Given the description of an element on the screen output the (x, y) to click on. 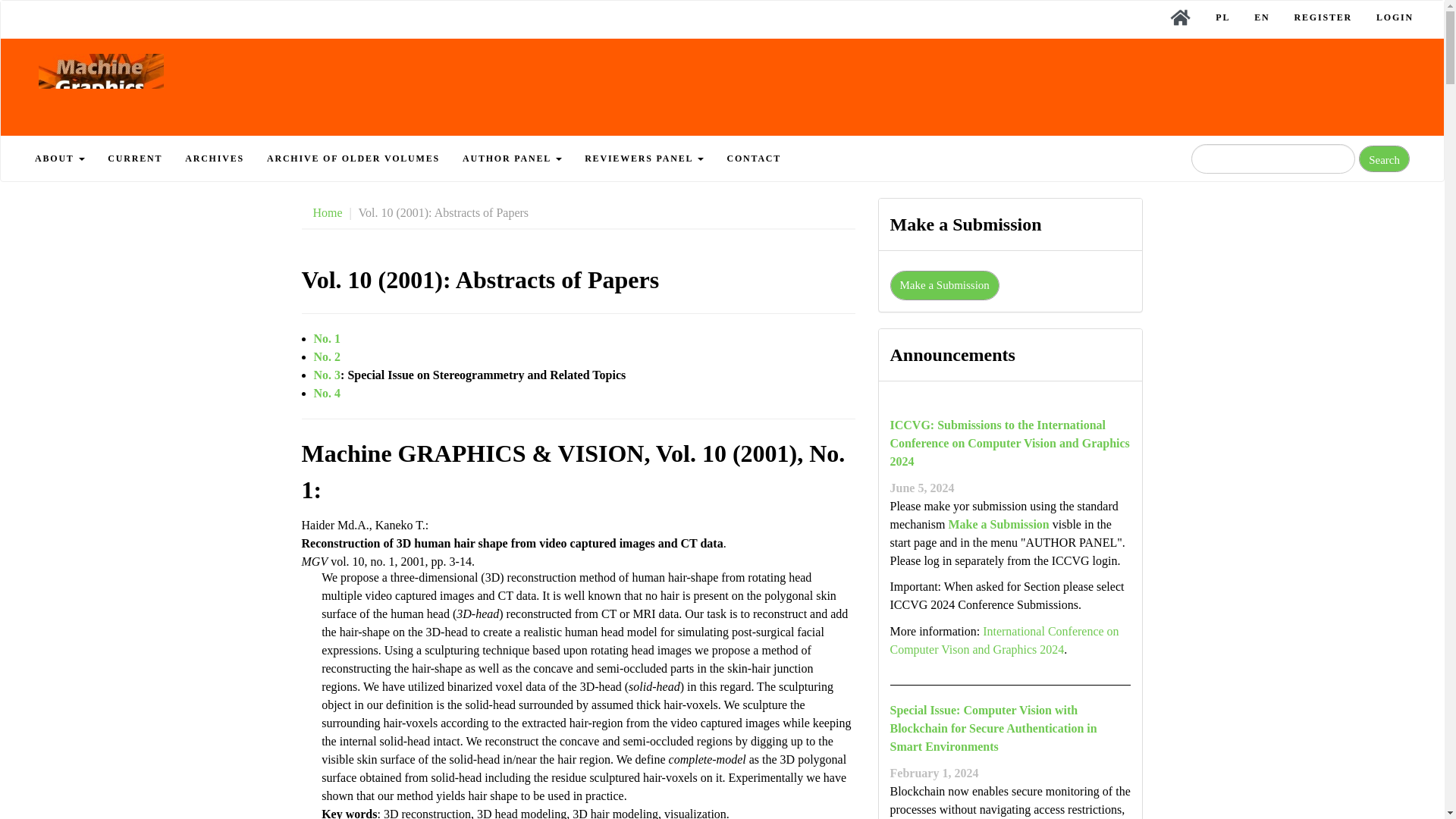
No. 1 (327, 338)
CONTACT (753, 157)
CURRENT (134, 157)
Home (327, 212)
REVIEWERS PANEL (643, 157)
PL (1222, 17)
LOGIN (1395, 17)
ARCHIVES (214, 157)
Search (1383, 158)
AUTHOR PANEL (512, 157)
